Given the description of an element on the screen output the (x, y) to click on. 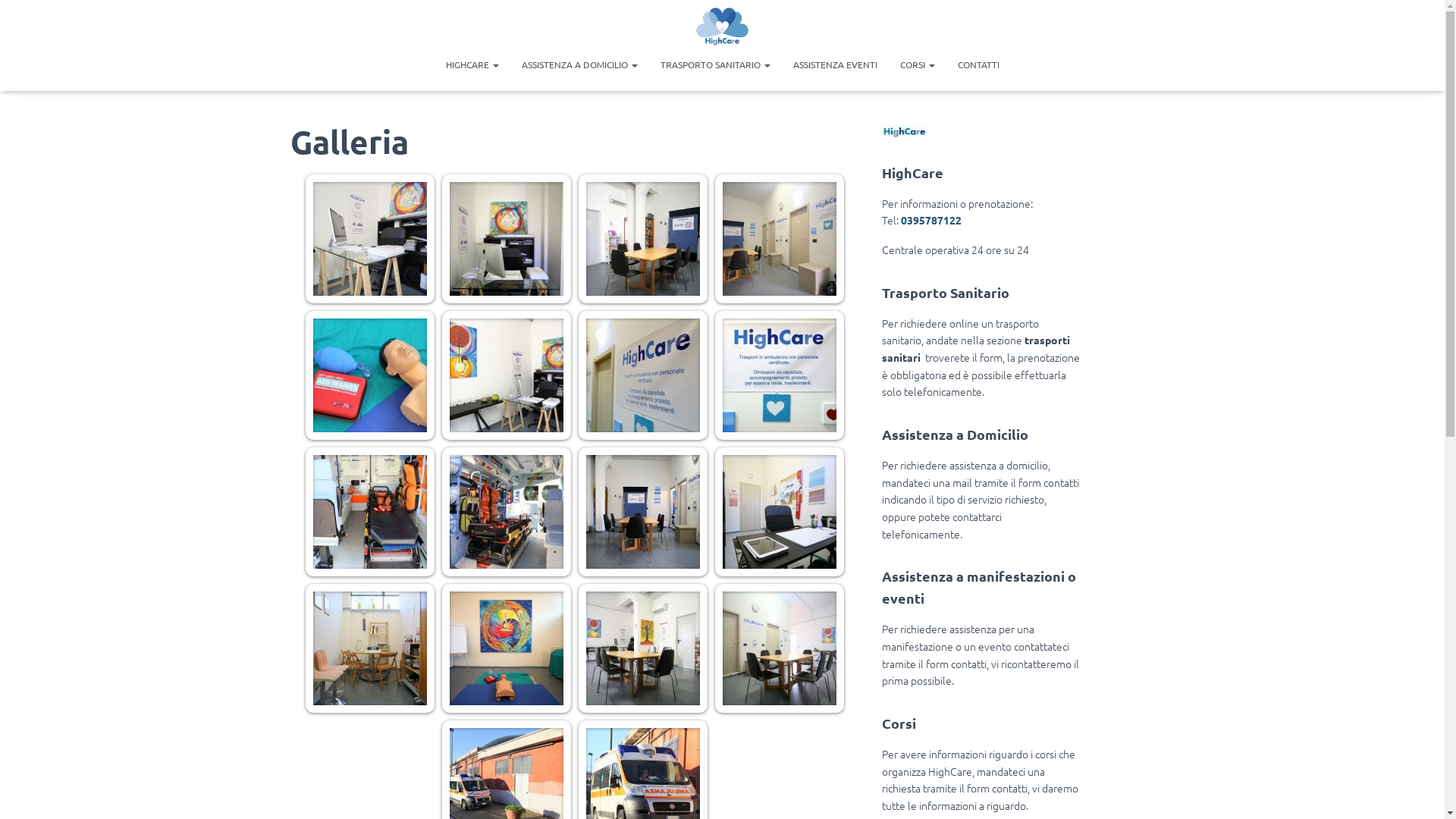
TRASPORTO SANITARIO Element type: text (715, 64)
ASSISTENZA A DOMICILIO Element type: text (578, 64)
CONTATTI Element type: text (978, 64)
HIGHCARE Element type: text (471, 64)
0395787122 Element type: text (930, 220)
CORSI Element type: text (917, 64)
ASSISTENZA EVENTI Element type: text (834, 64)
High-Care Element type: hover (722, 26)
